Given the description of an element on the screen output the (x, y) to click on. 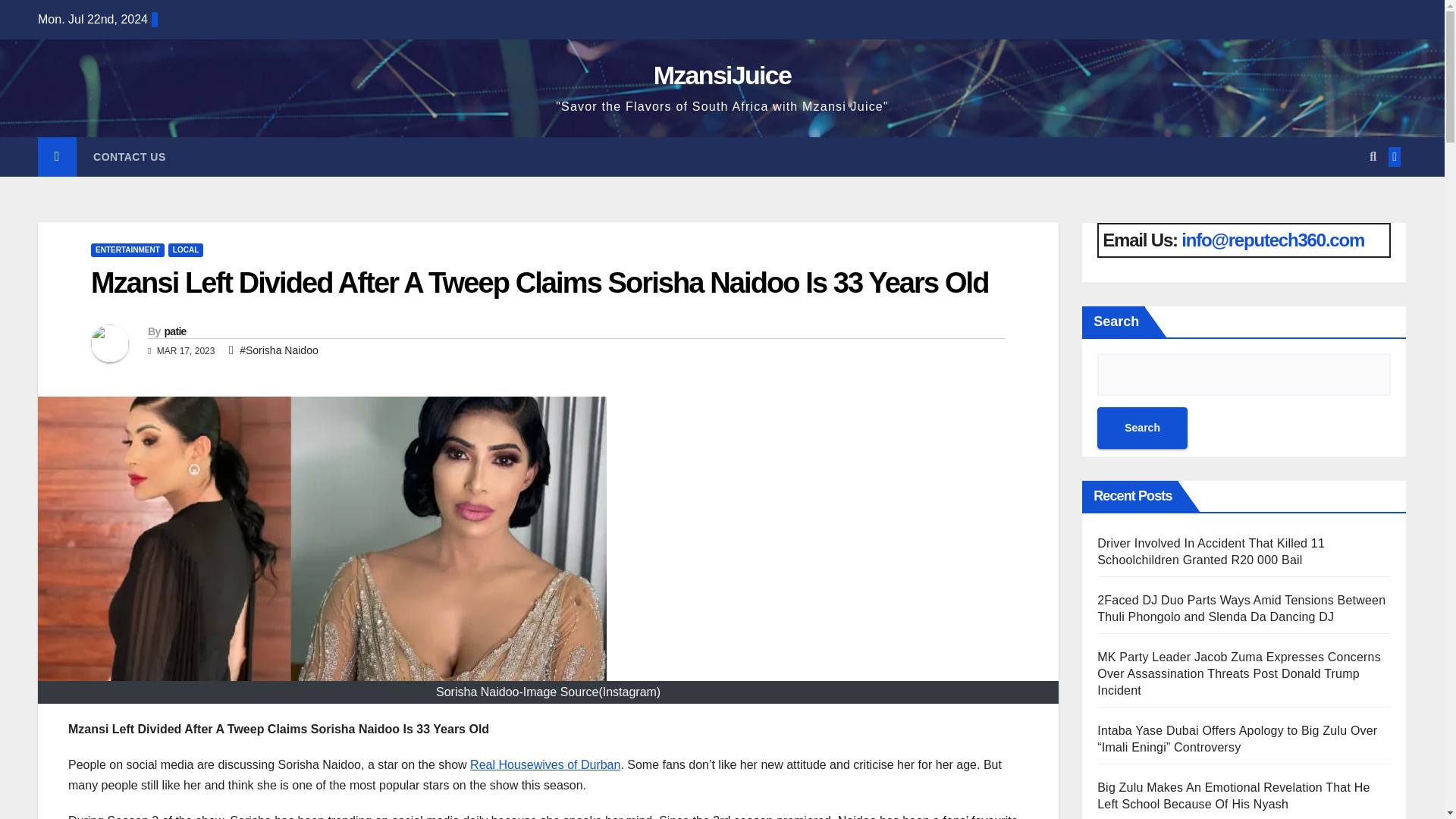
patie (174, 331)
LOCAL (185, 250)
ENTERTAINMENT (127, 250)
MzansiJuice (722, 74)
CONTACT US (130, 156)
Real Housewives of Durban (545, 764)
Contact Us (130, 156)
